Given the description of an element on the screen output the (x, y) to click on. 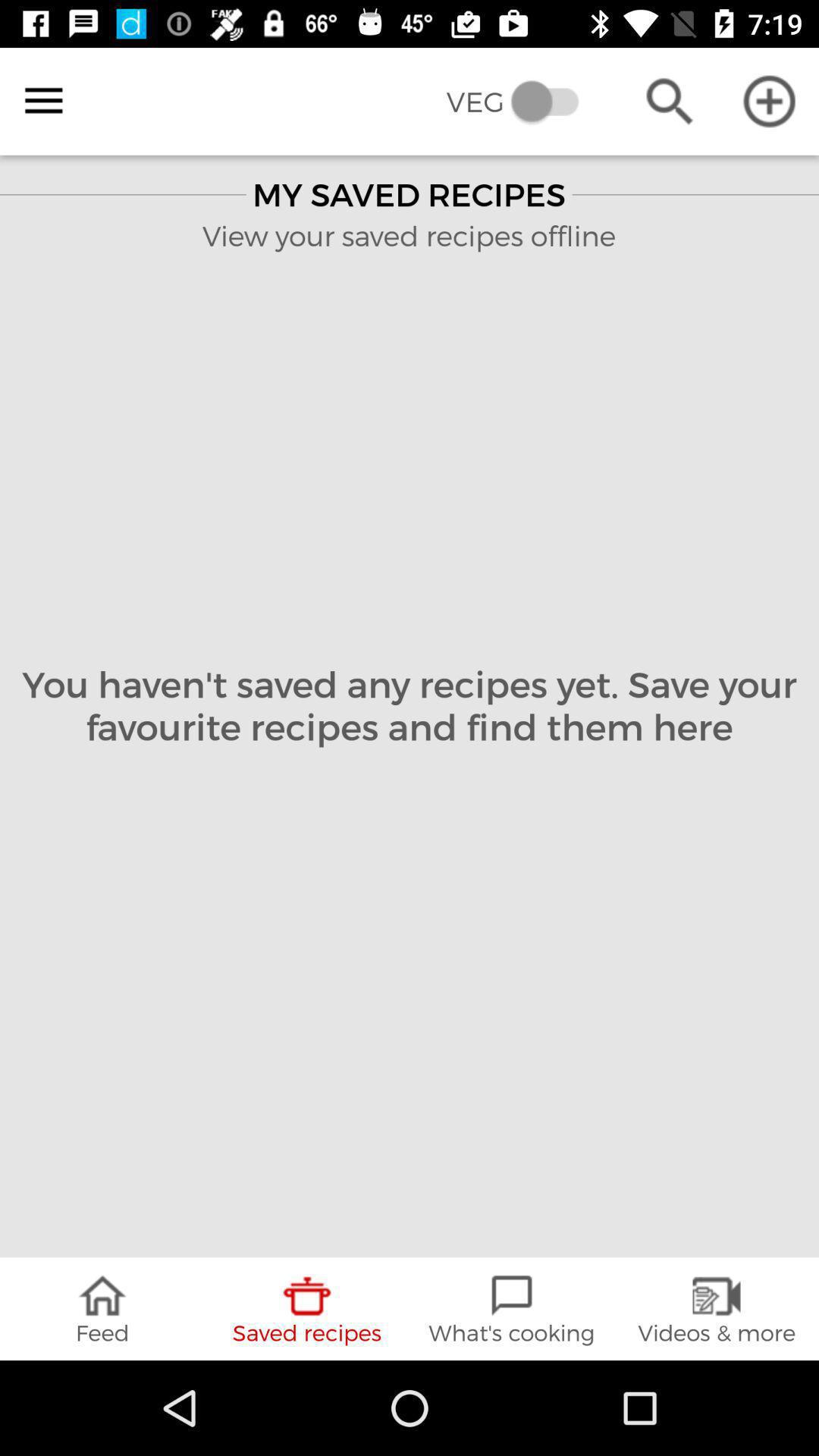
choose the item next to the veg item (669, 101)
